Given the description of an element on the screen output the (x, y) to click on. 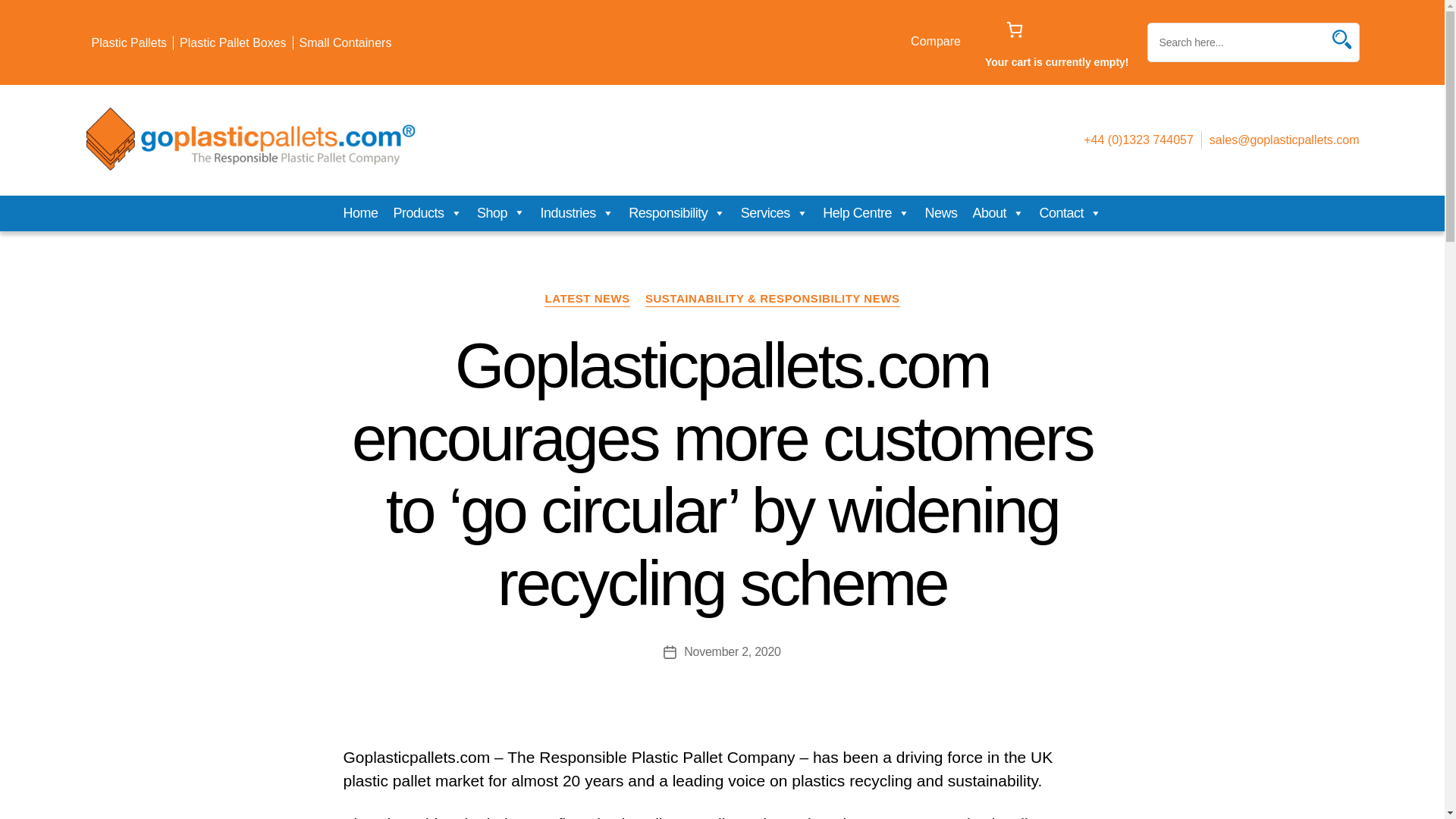
Plastic Pallet Boxes (232, 42)
Plastic Pallets (128, 42)
Home (359, 213)
Compare (935, 41)
Products (426, 213)
Small Containers (345, 42)
